Given the description of an element on the screen output the (x, y) to click on. 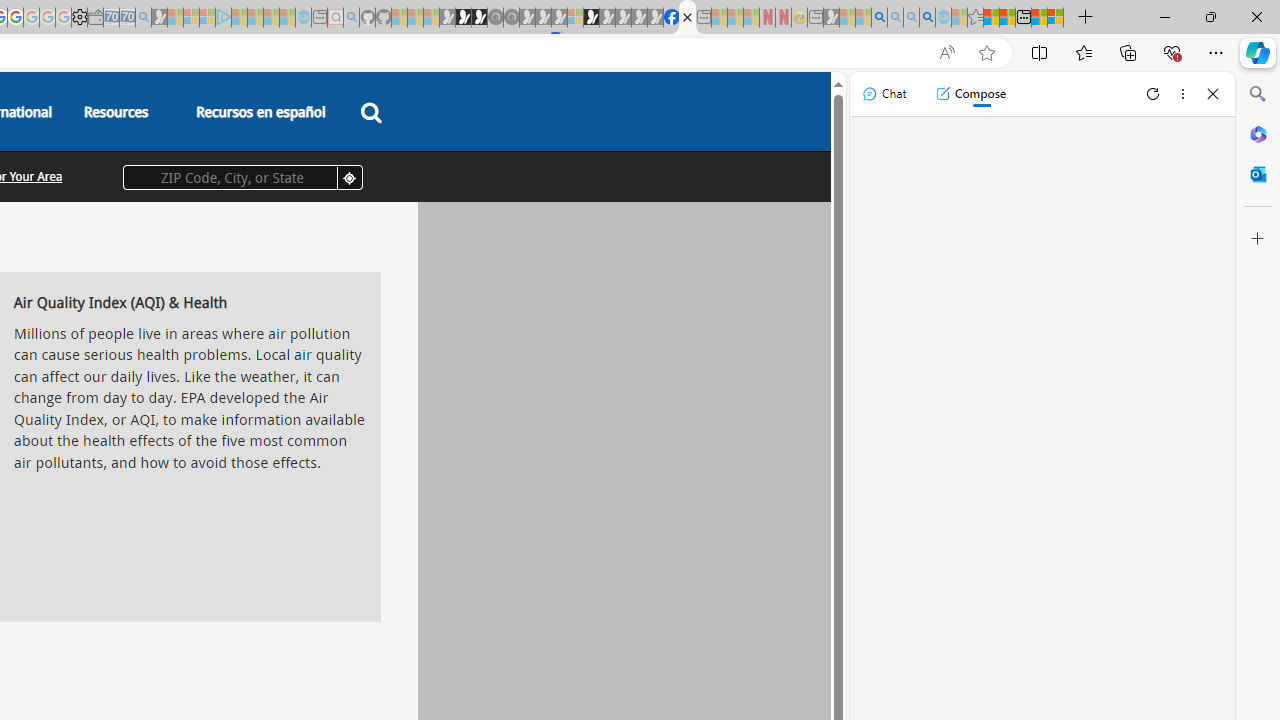
Chat (884, 93)
Wallet - Sleeping (95, 17)
MSN - Sleeping (831, 17)
Nordace | Facebook (671, 17)
AQI & Health | AirNow.gov (687, 17)
Future Focus Report 2024 - Sleeping (511, 17)
